Given the description of an element on the screen output the (x, y) to click on. 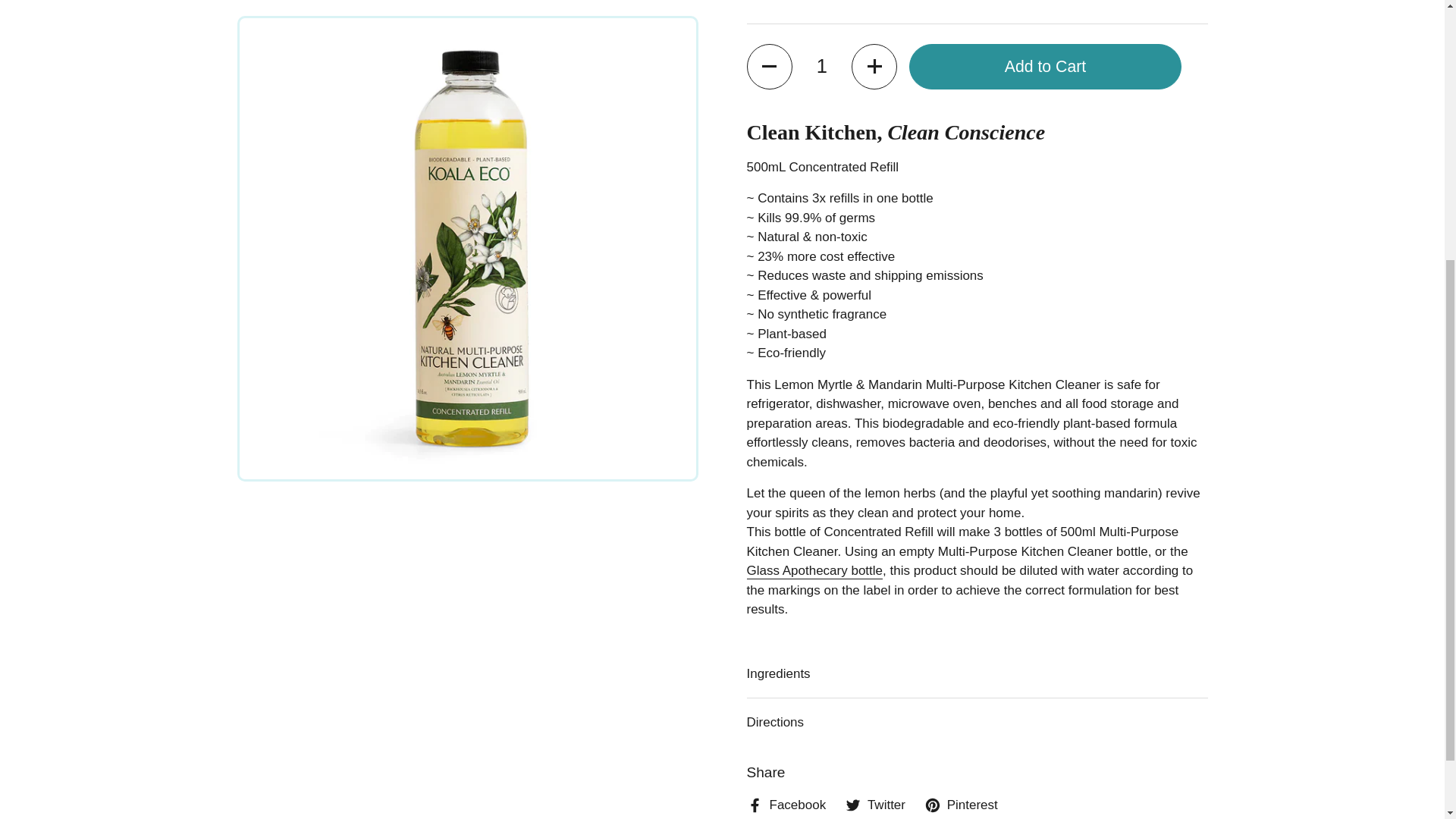
1 (821, 66)
Share on pinterest (960, 804)
Share on twitter (874, 804)
Share on facebook (785, 804)
KOALA ECO Apothecary Glass Bottle With Spray Trigger 500ml (813, 571)
